Given the description of an element on the screen output the (x, y) to click on. 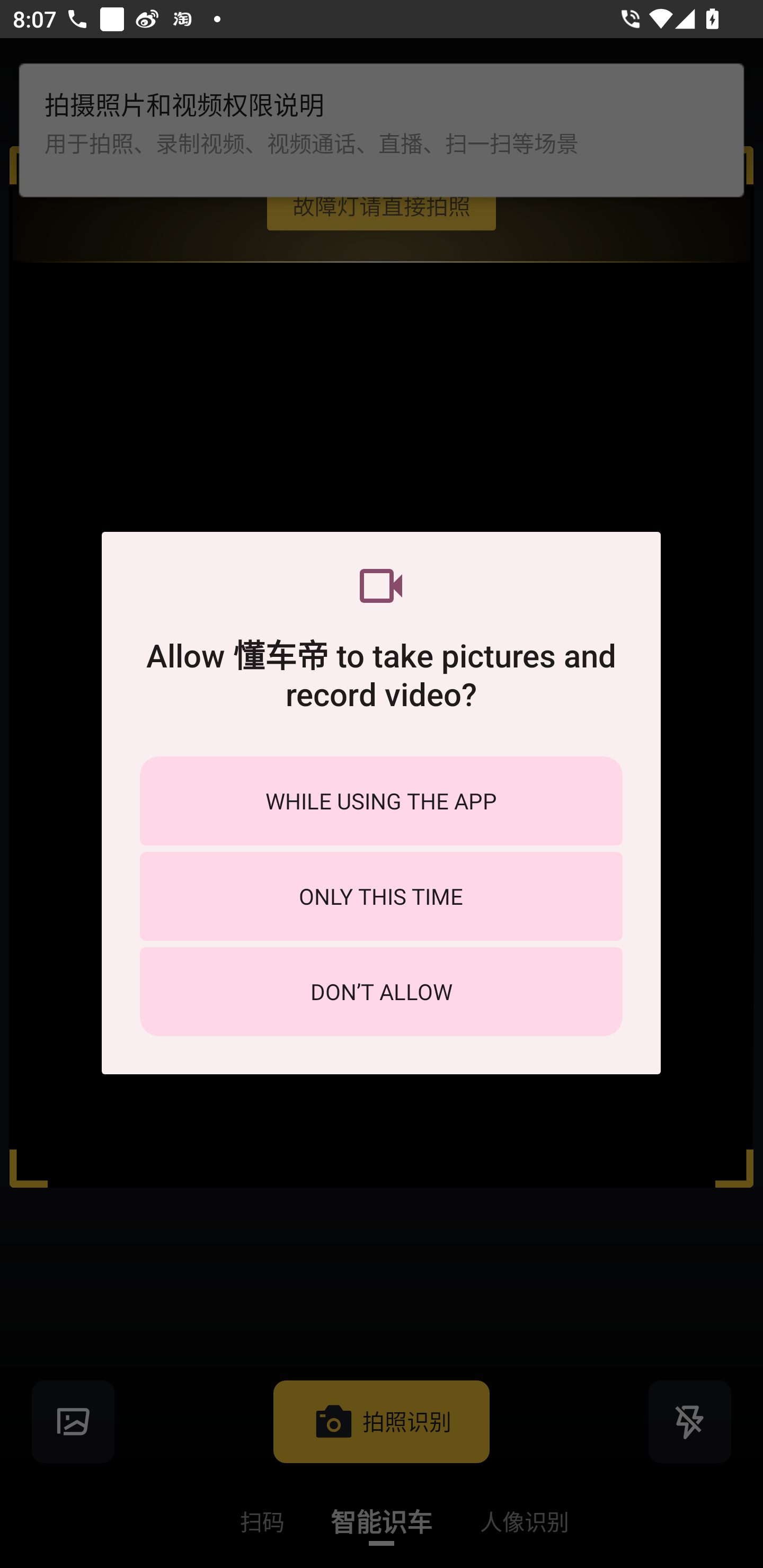
WHILE USING THE APP (380, 800)
ONLY THIS TIME (380, 895)
DON’T ALLOW (380, 991)
